Given the description of an element on the screen output the (x, y) to click on. 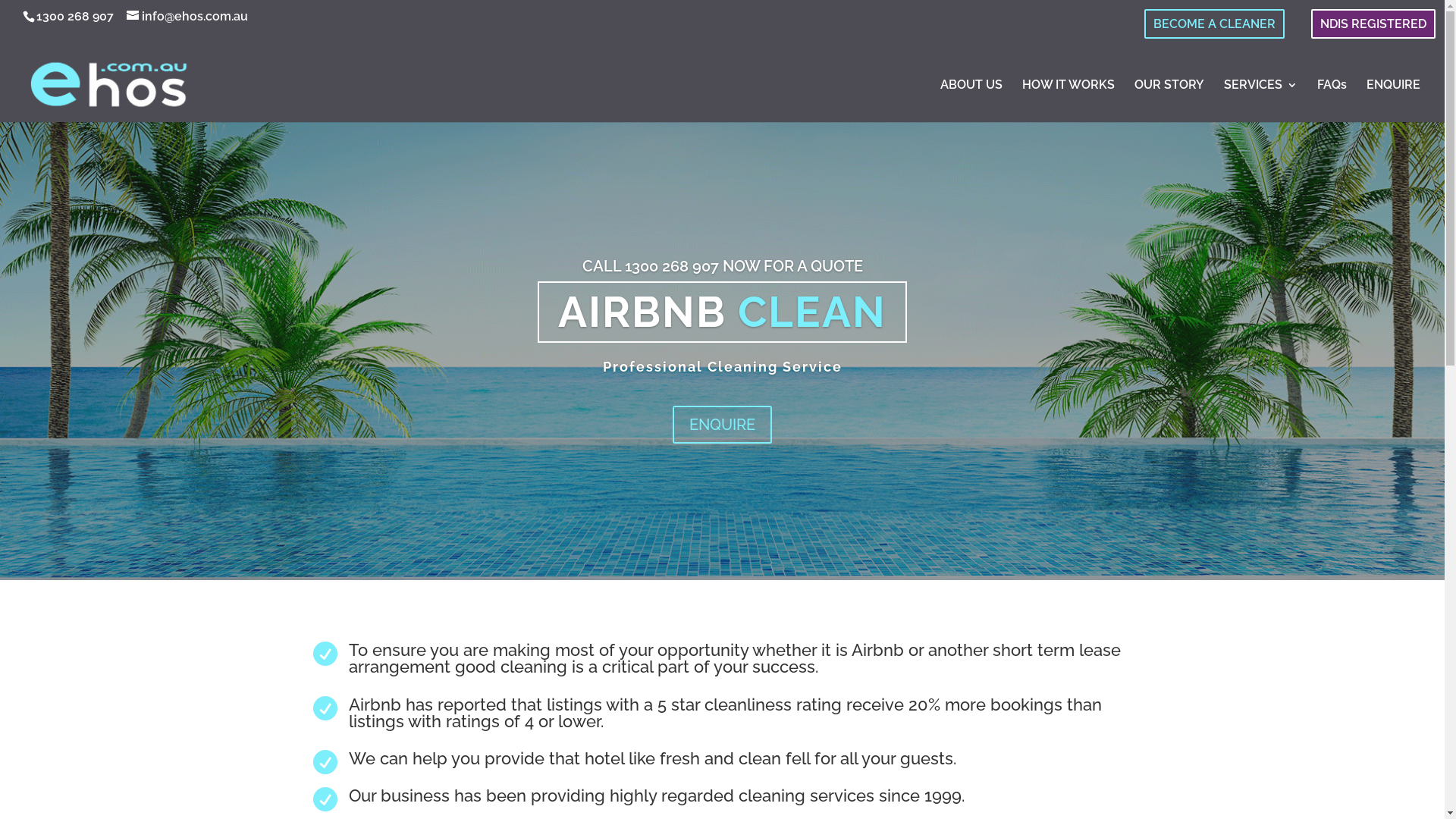
CALL 1300 268 907 NOW FOR A QUOTE Element type: text (722, 266)
BECOME A CLEANER Element type: text (1214, 23)
NDIS REGISTERED Element type: text (1373, 23)
ENQUIRE Element type: text (1393, 100)
SERVICES Element type: text (1260, 100)
FAQs Element type: text (1331, 100)
HOW IT WORKS Element type: text (1068, 100)
info@ehos.com.au Element type: text (186, 16)
ENQUIRE Element type: text (721, 424)
ABOUT US Element type: text (971, 100)
OUR STORY Element type: text (1169, 100)
